Given the description of an element on the screen output the (x, y) to click on. 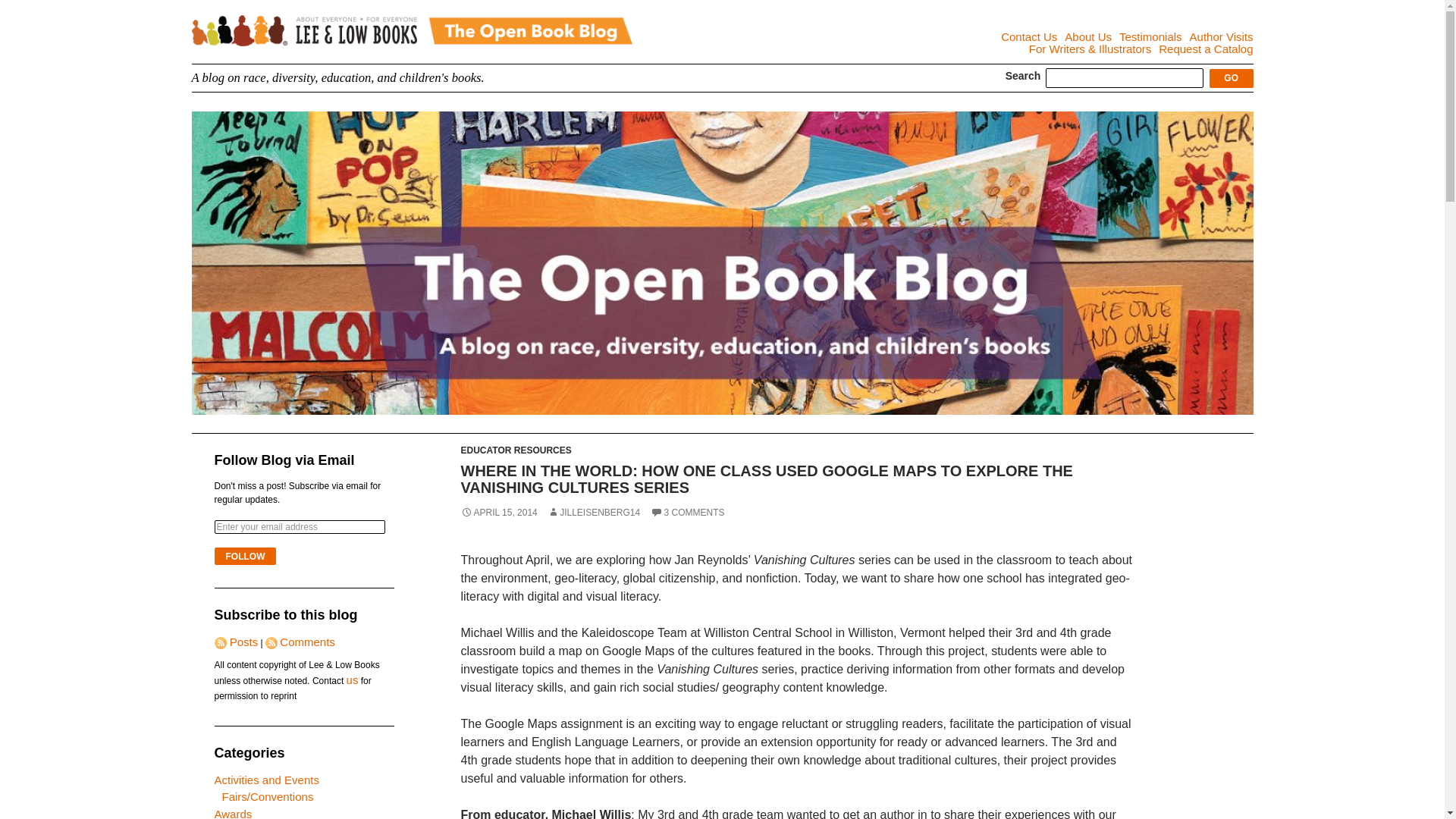
Contact Us (1029, 36)
Follow (245, 556)
GO (1231, 77)
APRIL 15, 2014 (499, 511)
Author Visits (1221, 36)
3 COMMENTS (687, 511)
JILLEISENBERG14 (593, 511)
Testimonials (1150, 36)
About Us (1088, 36)
Request a Catalog (1205, 48)
